Given the description of an element on the screen output the (x, y) to click on. 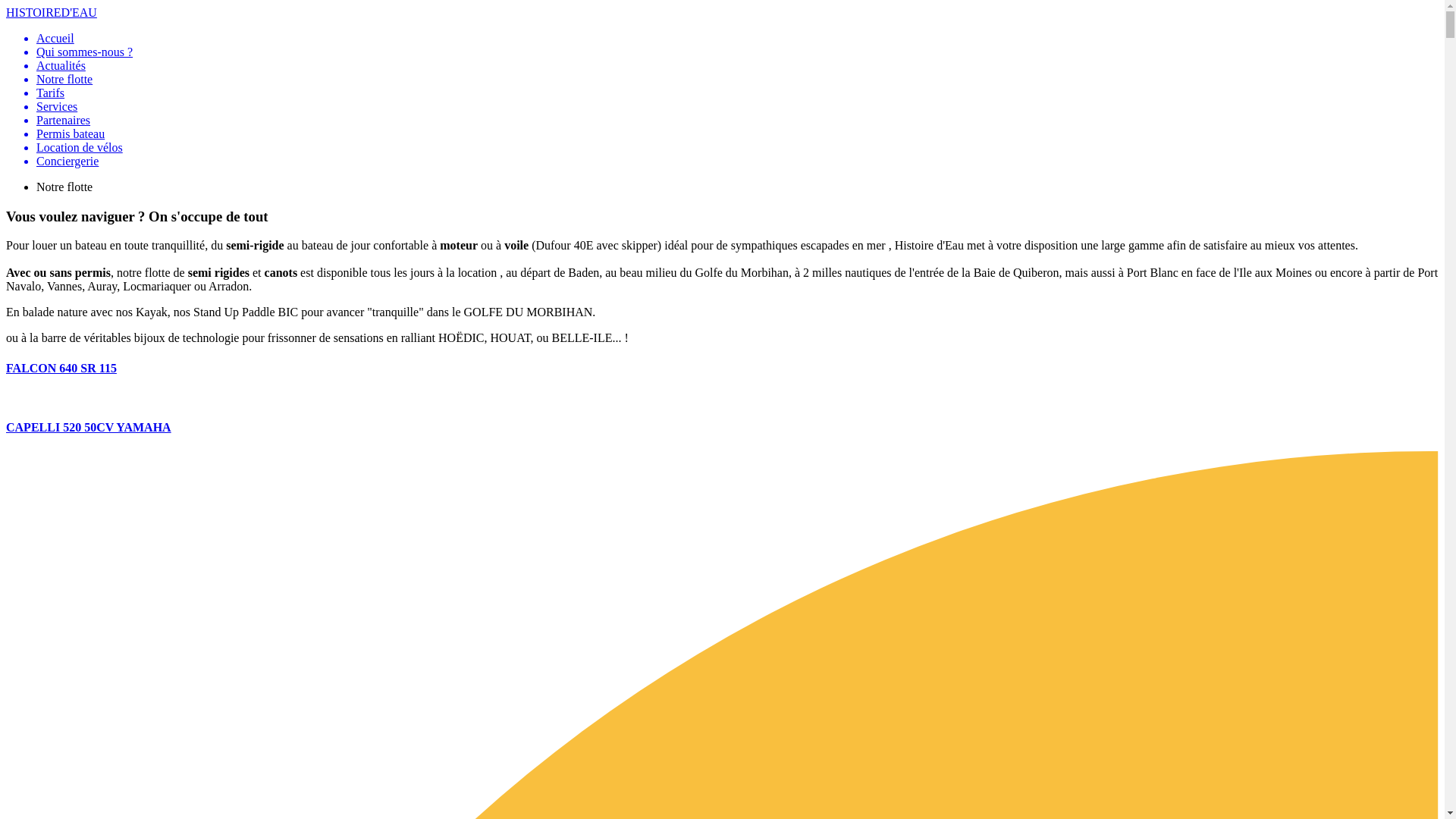
FALCON 640 SR 115 Element type: text (722, 382)
Qui sommes-nous ? Element type: text (737, 52)
Services Element type: text (737, 106)
Notre flotte Element type: text (737, 79)
HISTOIRED'EAU Element type: text (51, 12)
Tarifs Element type: text (737, 93)
Conciergerie Element type: text (737, 161)
Permis bateau Element type: text (737, 134)
Accueil Element type: text (737, 38)
Partenaires Element type: text (737, 120)
